Given the description of an element on the screen output the (x, y) to click on. 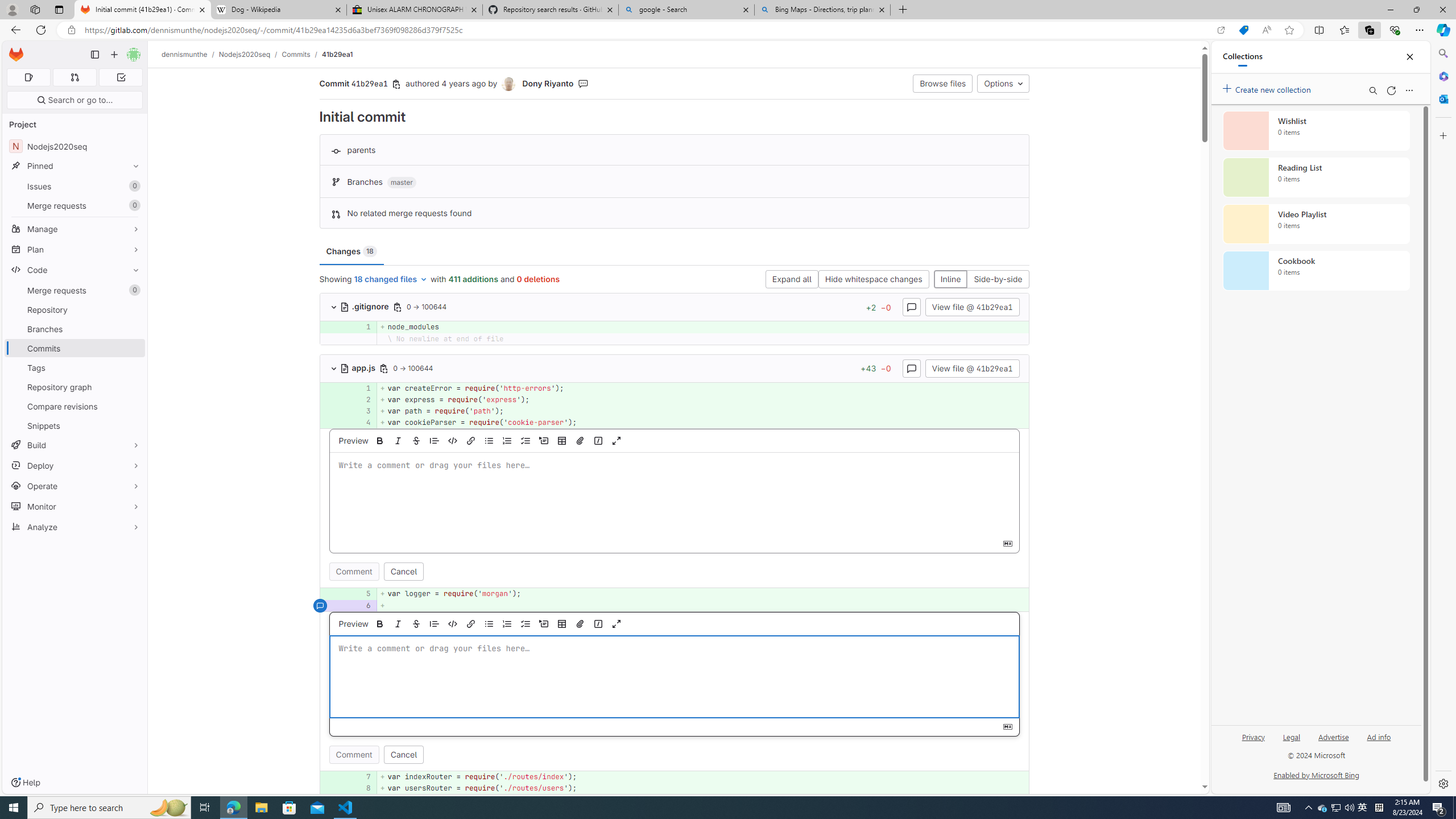
2 (360, 399)
Plan (74, 248)
AutomationID: 4a68969ef8e858229267b842dedf42ab5dde4d50_0_4 (674, 422)
Snippets (74, 425)
5 (362, 594)
app.js  (358, 367)
3 (362, 410)
Compare revisions (74, 406)
Video Playlist collection, 0 items (1316, 223)
Browse files (942, 83)
Monitor (74, 506)
